Given the description of an element on the screen output the (x, y) to click on. 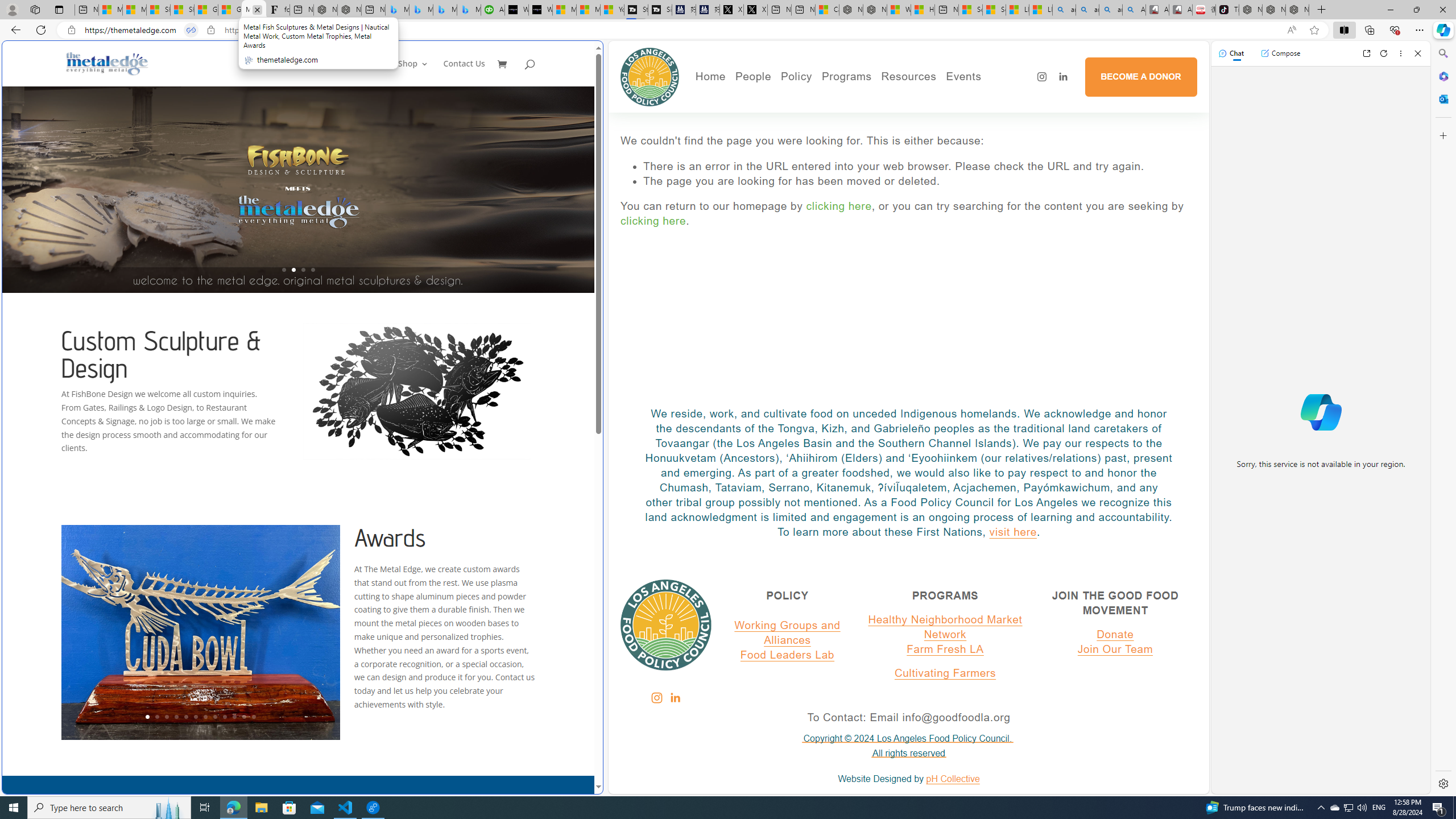
Reports (791, 161)
Tab actions menu (58, 9)
Microsoft Start Sports (563, 9)
About (791, 98)
Los Angeles Food Policy Council (649, 76)
Working Groups and Alliances (787, 632)
Policy (796, 76)
X (754, 9)
Cultivating Farmers (878, 130)
Healthy Neighborhood Market Network (944, 626)
Microsoft Bing Travel - Shangri-La Hotel Bangkok (469, 9)
